Given the description of an element on the screen output the (x, y) to click on. 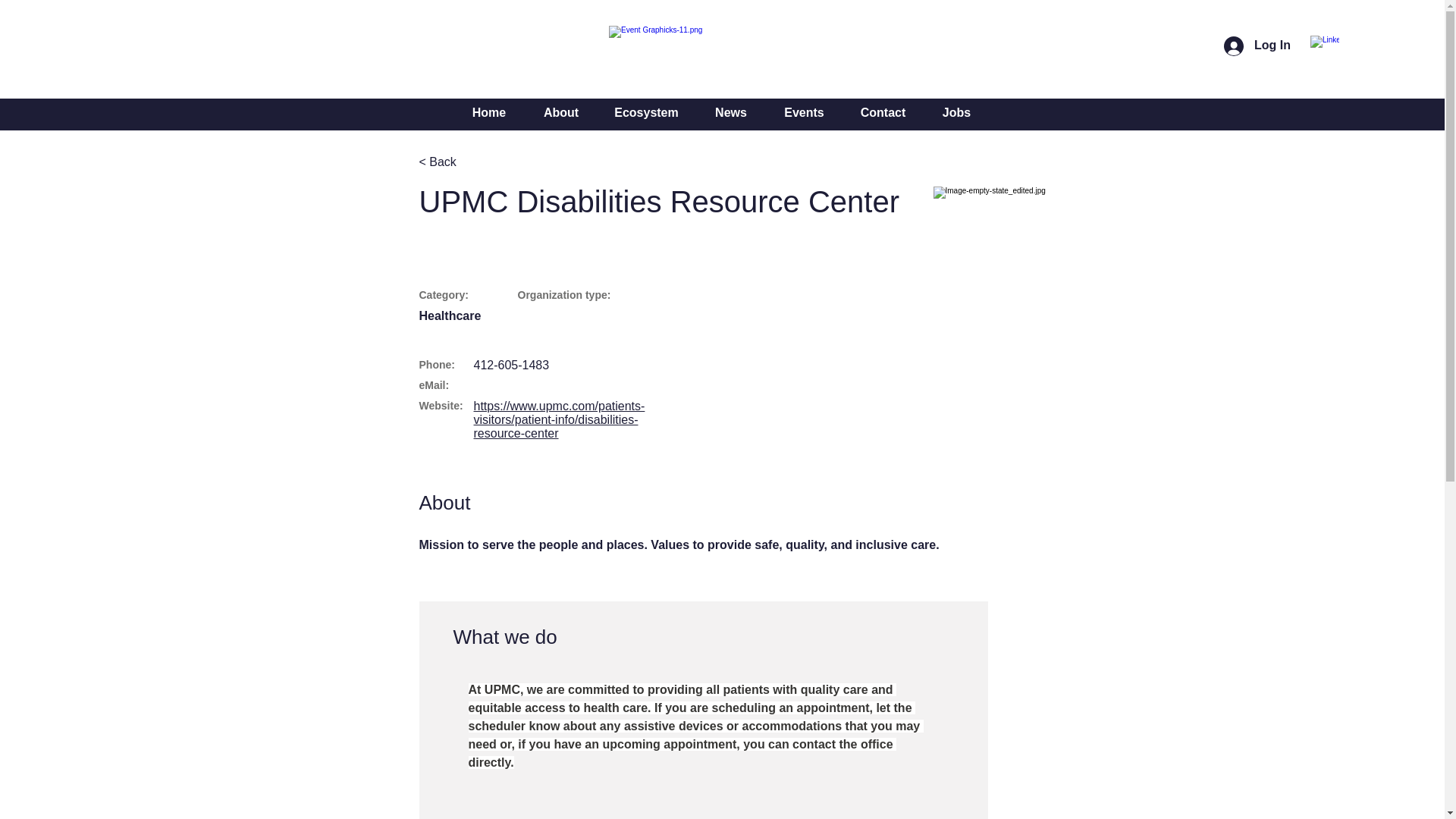
Events (803, 113)
News (731, 113)
Ecosystem (645, 113)
Log In (1256, 45)
Home (488, 113)
45.jpg (989, 243)
Jobs (955, 113)
About (560, 113)
Contact (882, 113)
